Given the description of an element on the screen output the (x, y) to click on. 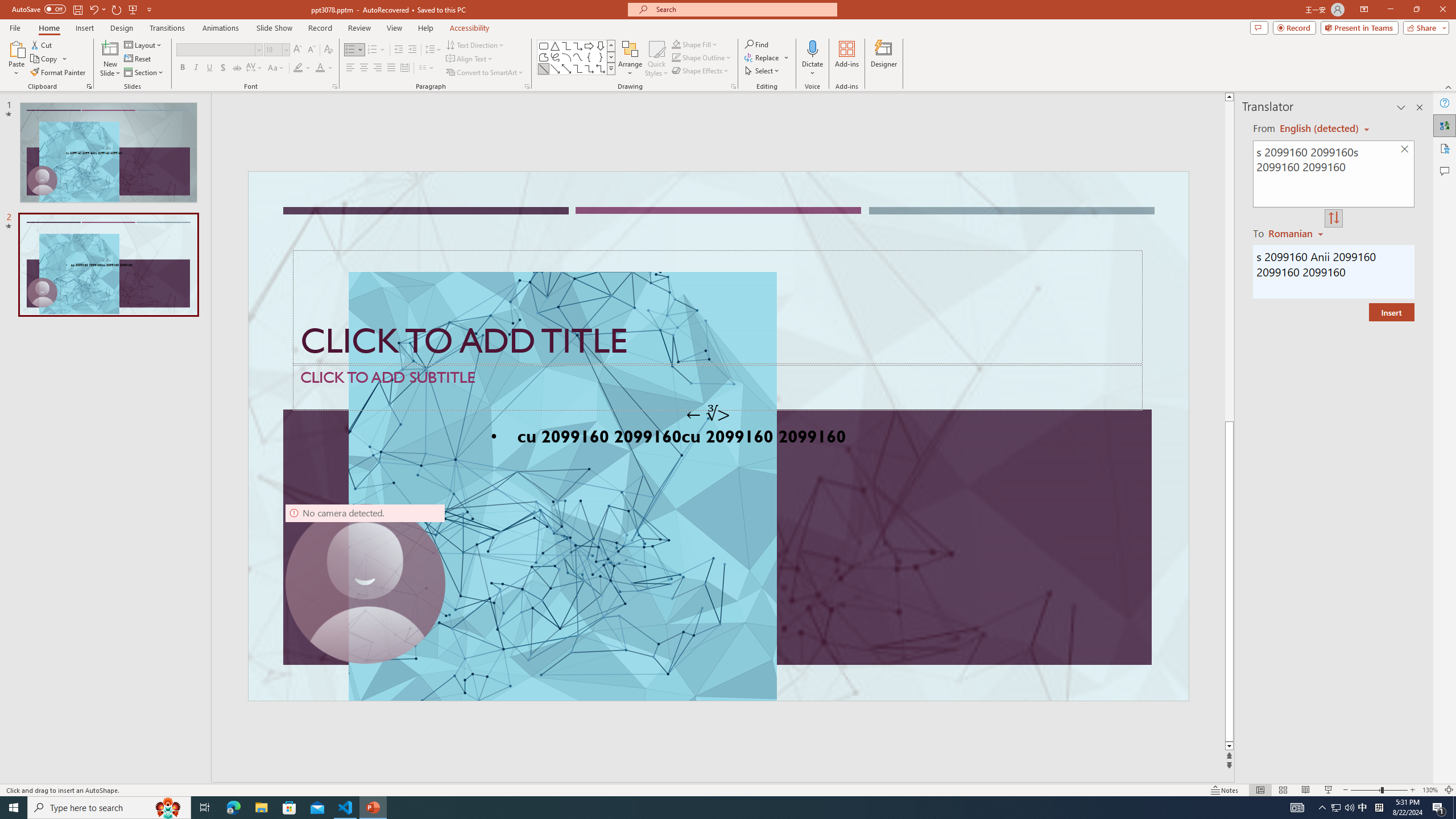
Swap "from" and "to" languages. (1333, 218)
Line Arrow: Double (566, 68)
